Given the description of an element on the screen output the (x, y) to click on. 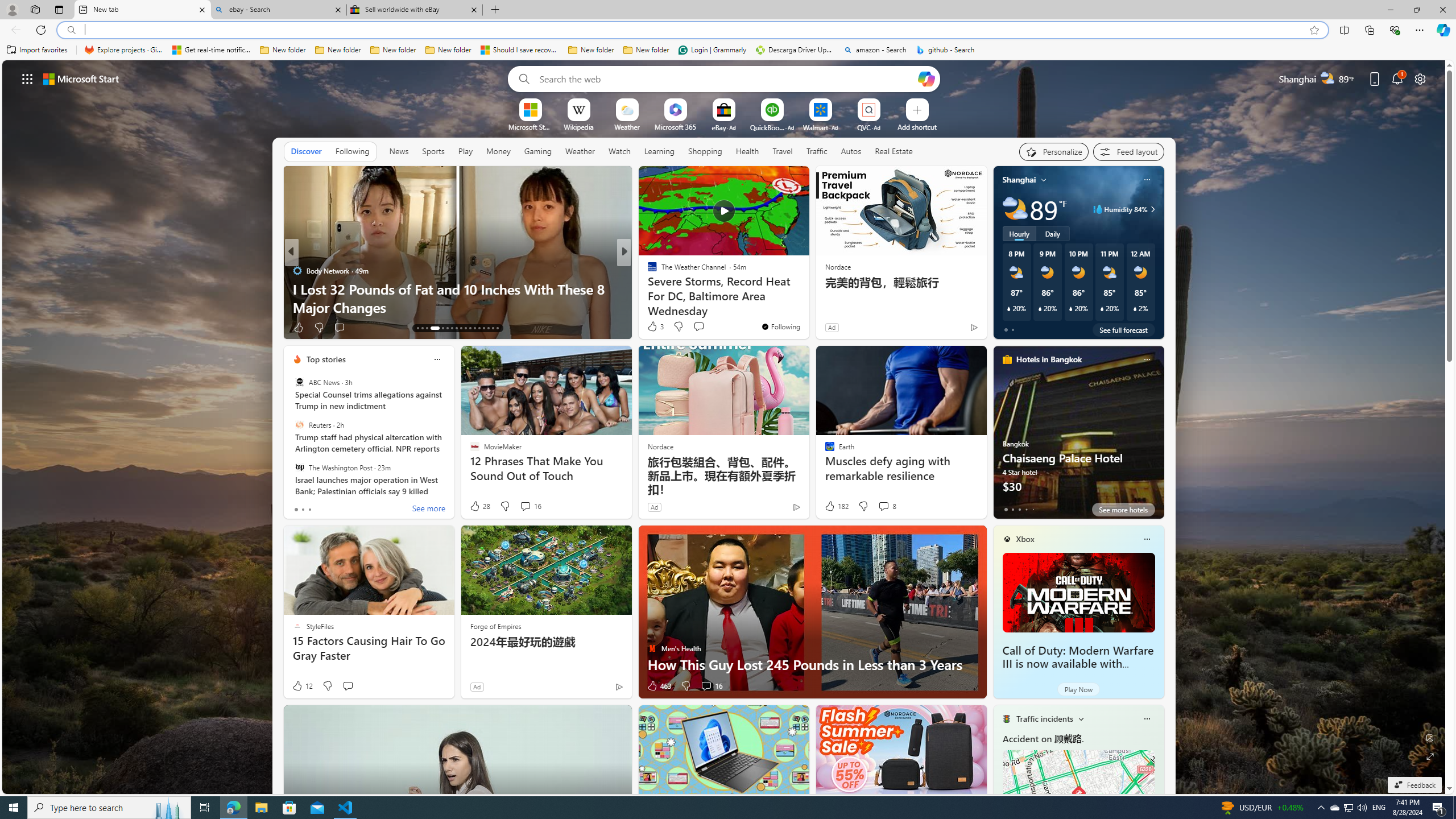
hotels-header-icon (1006, 358)
Page settings (1420, 78)
Traffic Title Traffic Light (1005, 718)
Hotels in Bangkok (1048, 359)
Top stories (325, 359)
Daily (1052, 233)
Health (746, 151)
AutomationID: backgroundImagePicture (723, 426)
AutomationID: tab-16 (431, 328)
To get missing image descriptions, open the context menu. (529, 109)
Open Copilot (926, 78)
View comments 16 Comment (710, 685)
